Given the description of an element on the screen output the (x, y) to click on. 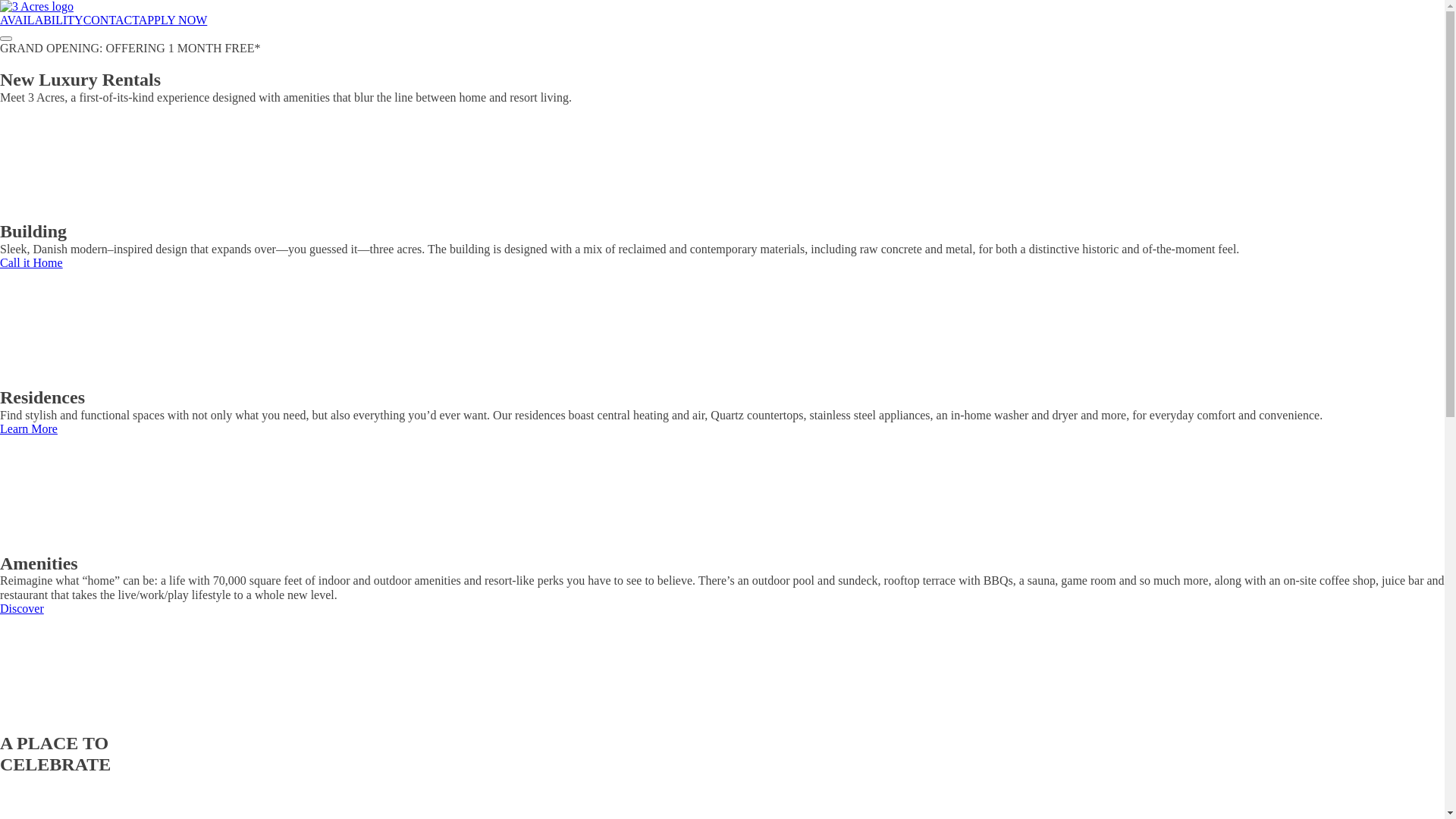
APPLY NOW Element type: text (172, 19)
CONTACT Element type: text (110, 19)
Discover Element type: text (21, 608)
Call it Home Element type: text (31, 262)
Learn More Element type: text (28, 428)
AVAILABILITY Element type: text (41, 19)
